Given the description of an element on the screen output the (x, y) to click on. 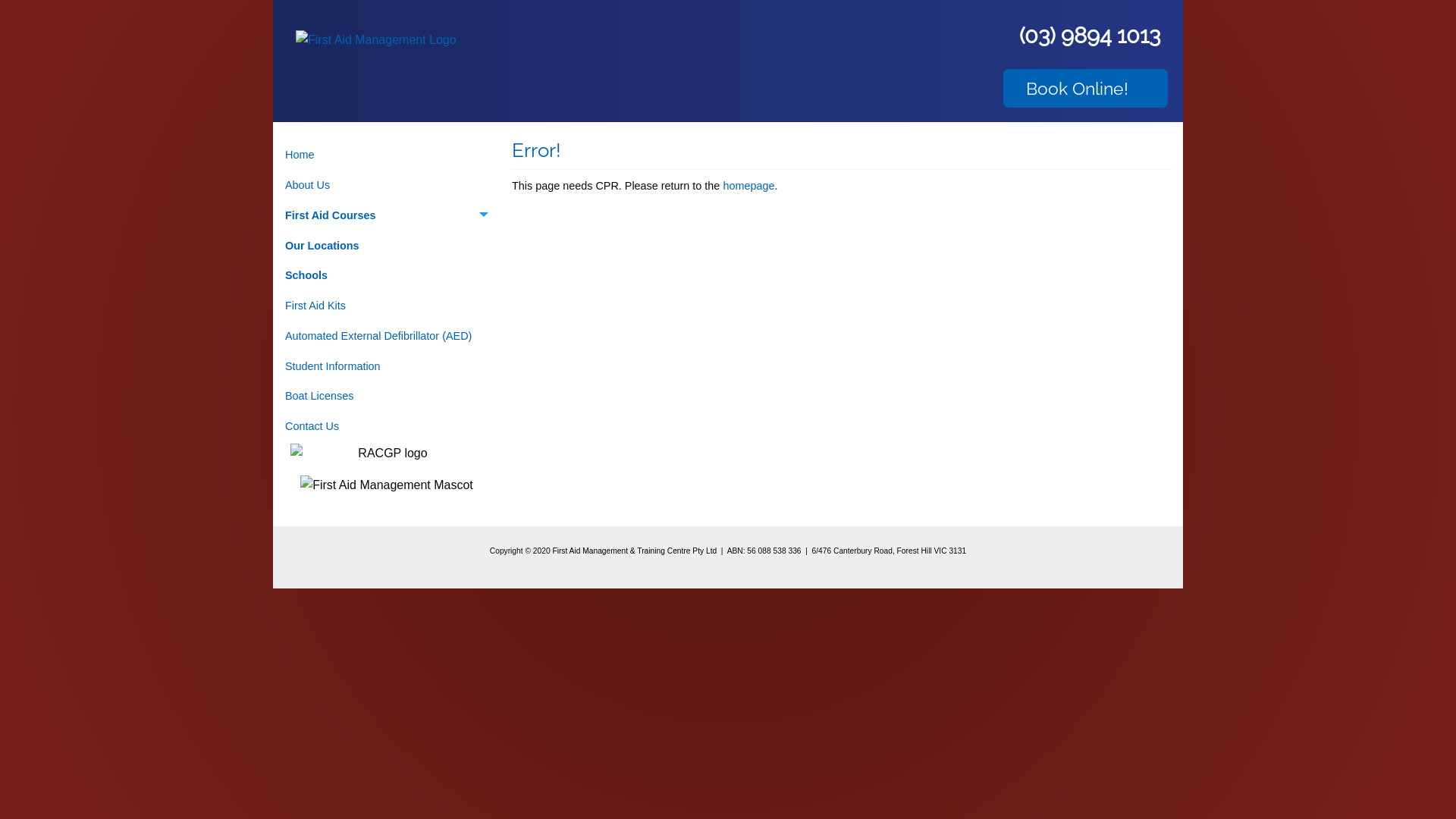
First Aid Management & Training Centre Pty Ltd Element type: text (634, 550)
Home Element type: text (386, 155)
Student Information Element type: text (386, 365)
Schools Element type: text (386, 275)
First Aid Kits Element type: text (386, 305)
Our Locations Element type: text (386, 245)
Boat Licenses Element type: text (386, 396)
Automated External Defibrillator (AED) Element type: text (386, 336)
About Us Element type: text (386, 185)
(03) 9894 1013 Element type: text (1093, 35)
homepage Element type: text (748, 185)
Book Online!   Element type: text (1085, 88)
First Aid Courses Element type: text (386, 215)
Contact Us Element type: text (386, 426)
